Given the description of an element on the screen output the (x, y) to click on. 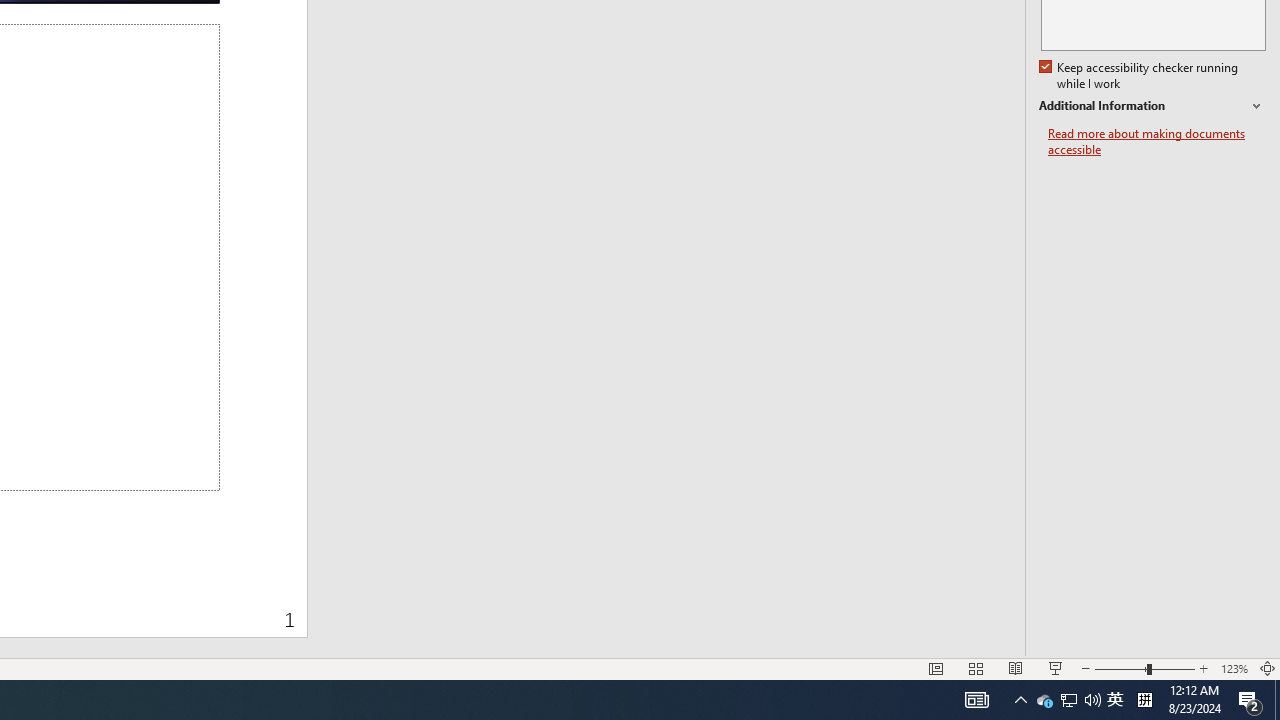
Additional Information (1152, 106)
Keep accessibility checker running while I work (1140, 76)
Action Center, 2 new notifications (1250, 699)
Zoom 123% (1115, 699)
Read more about making documents accessible (1234, 668)
